Given the description of an element on the screen output the (x, y) to click on. 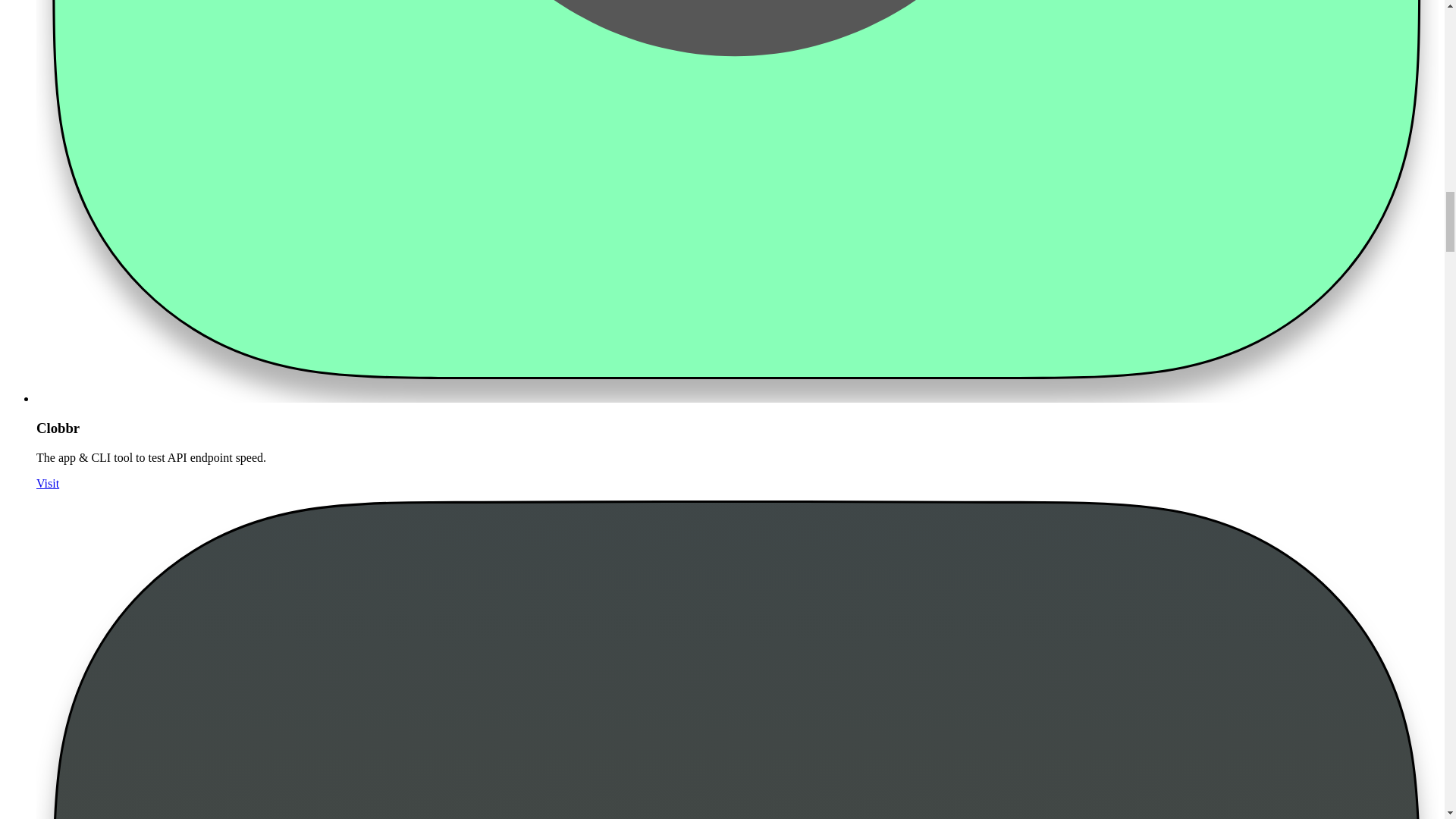
Visit (47, 482)
